Given the description of an element on the screen output the (x, y) to click on. 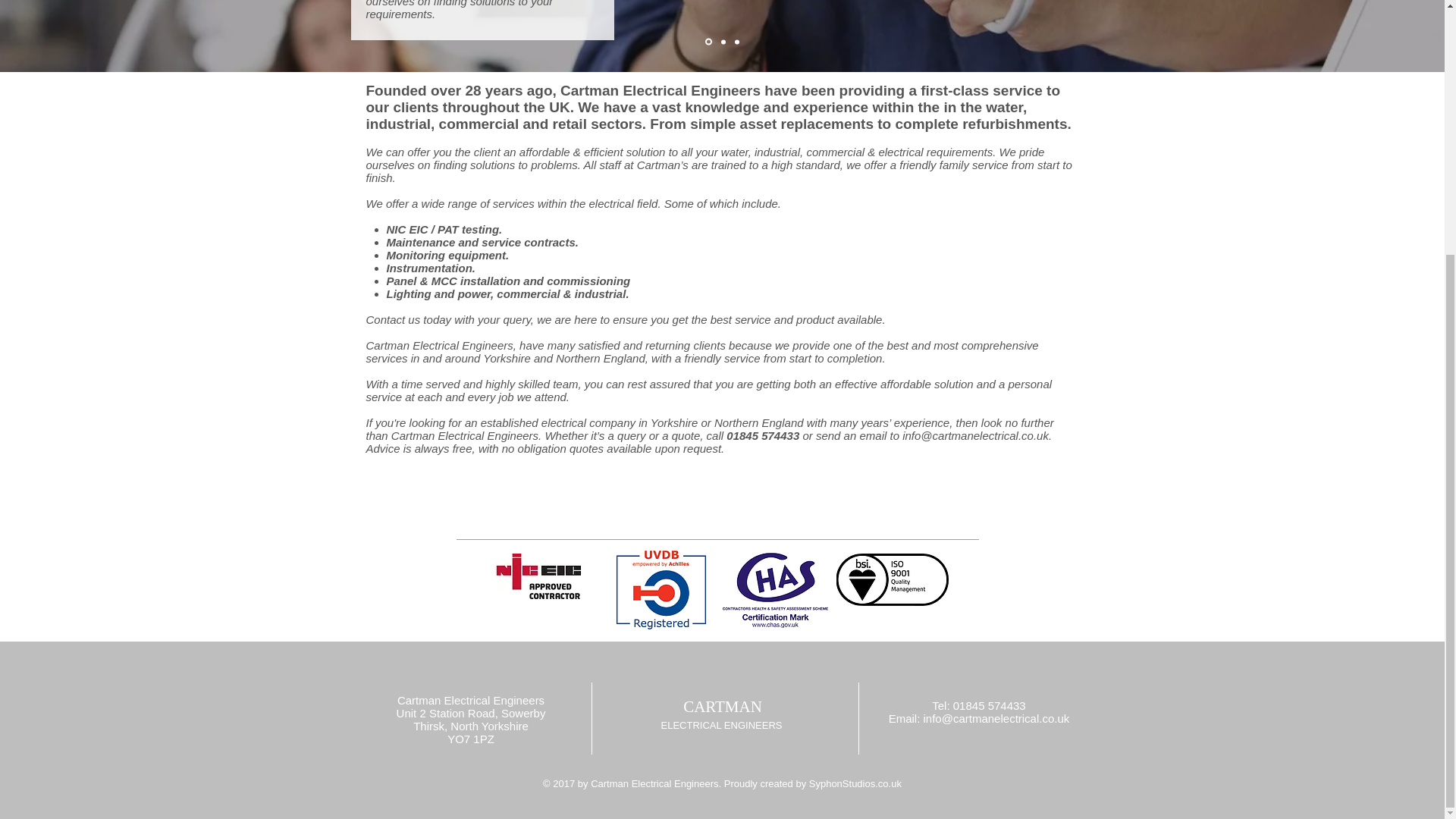
YO7 1PZ (470, 738)
ELECTRICAL ENGINEERS (722, 725)
CARTMAN (721, 706)
Cartman Electrical Engineers (654, 783)
